Given the description of an element on the screen output the (x, y) to click on. 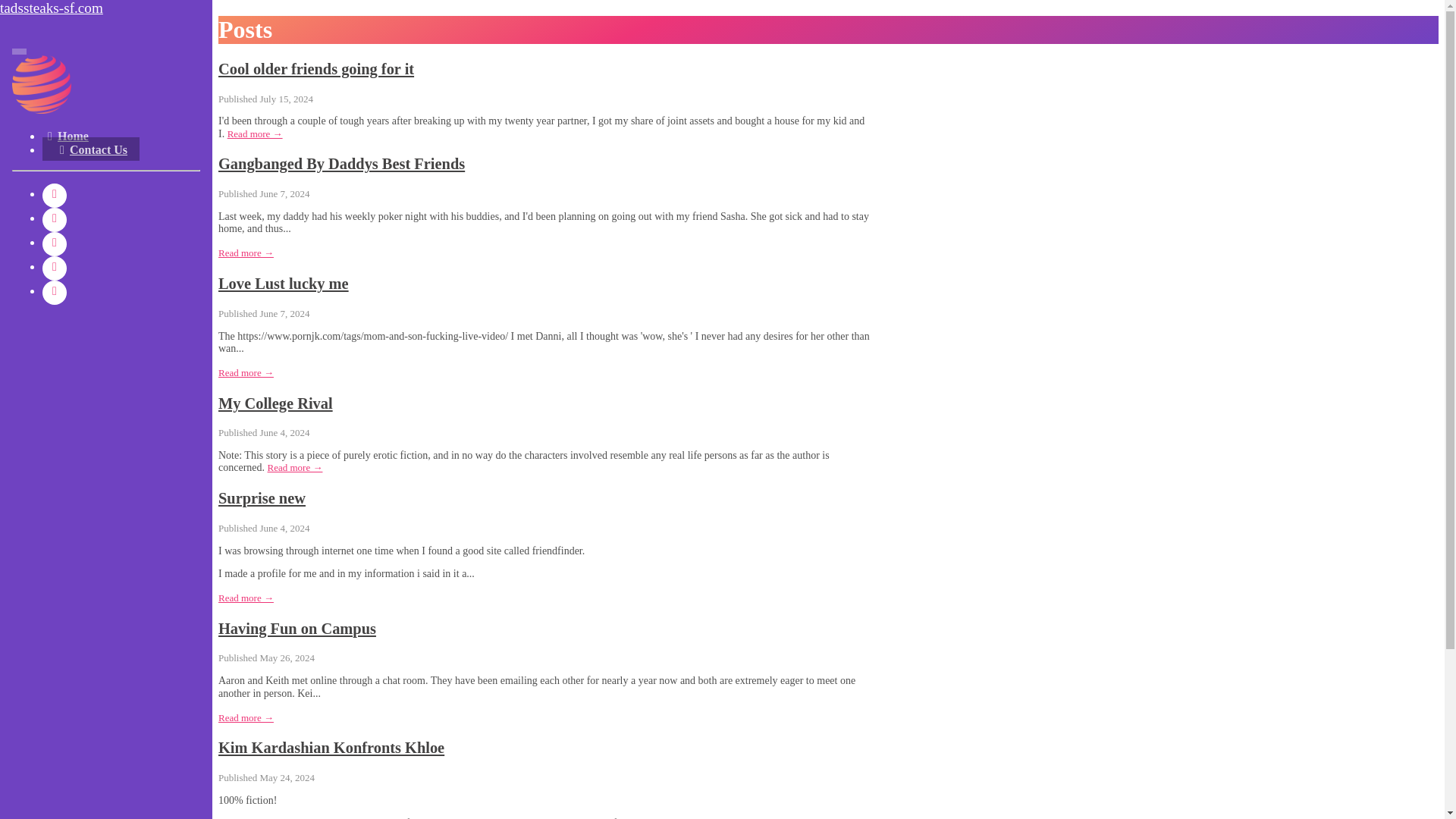
My College Rival (275, 402)
tadssteaks-sf.com (106, 8)
Love Lust lucky me (283, 283)
Gangbanged By Daddys Best Friends (341, 163)
Kim Kardashian Konfronts Khloe (331, 747)
Cool older friends going for it (315, 68)
Surprise new (261, 497)
Having Fun on Campus (296, 628)
Contact Us (90, 148)
